Given the description of an element on the screen output the (x, y) to click on. 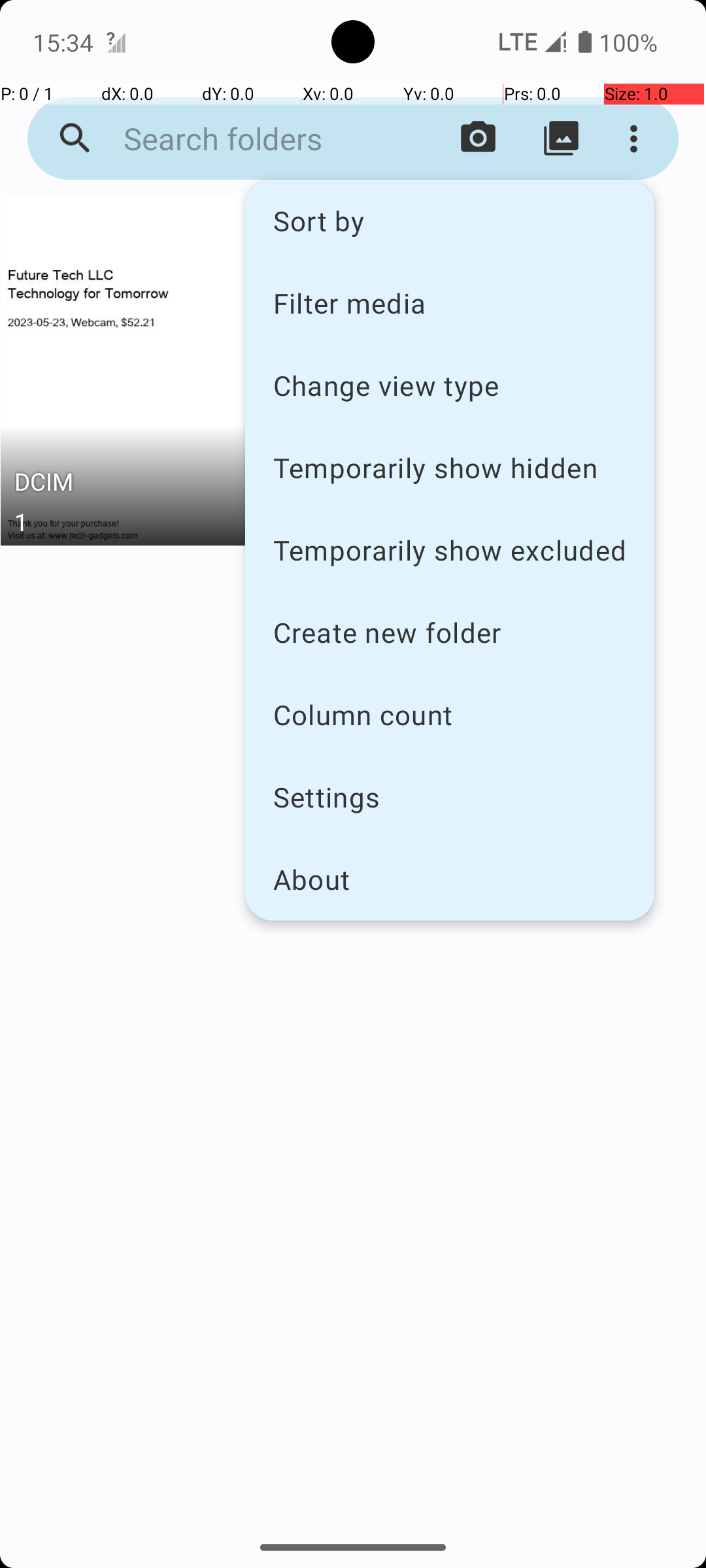
Filter media Element type: android.widget.TextView (449, 302)
Change view type Element type: android.widget.TextView (449, 384)
Temporarily show hidden Element type: android.widget.TextView (449, 467)
Temporarily show excluded Element type: android.widget.TextView (449, 549)
Create new folder Element type: android.widget.TextView (449, 631)
Column count Element type: android.widget.TextView (449, 714)
